Given the description of an element on the screen output the (x, y) to click on. 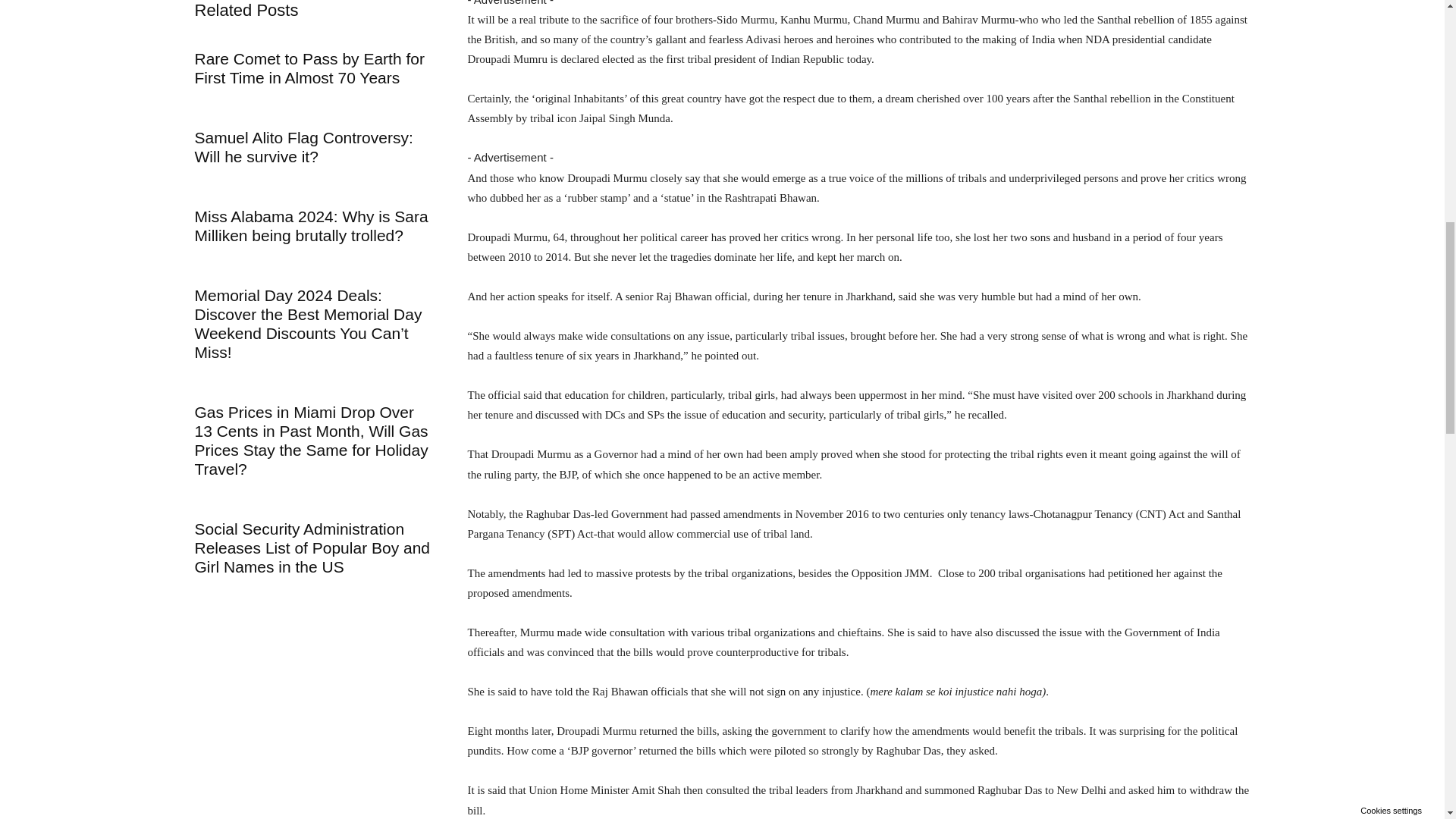
Samuel Alito Flag Controversy: Will he survive it? (302, 146)
